Given the description of an element on the screen output the (x, y) to click on. 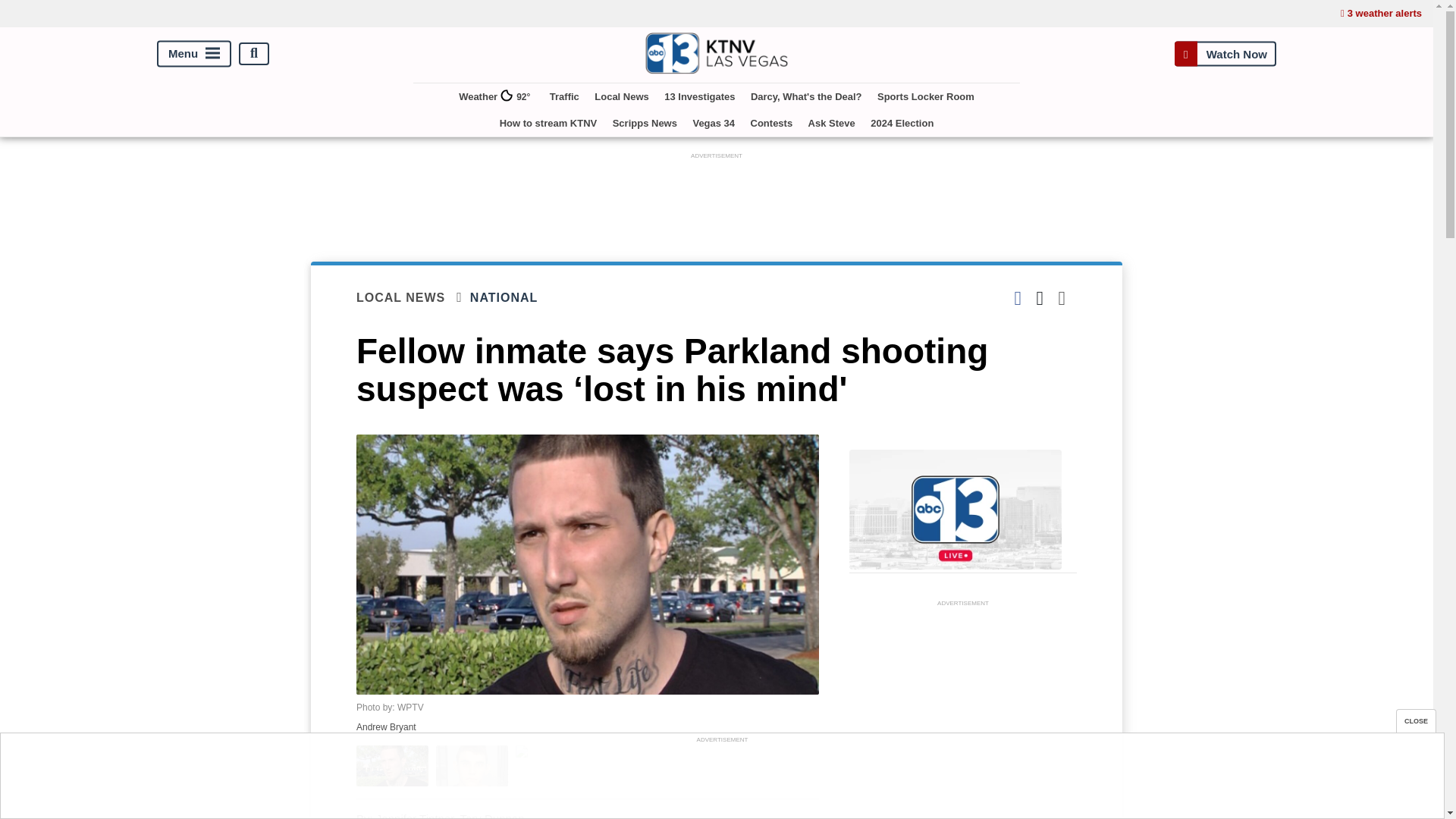
3rd party ad content (962, 714)
3rd party ad content (716, 196)
Menu (194, 53)
3rd party ad content (721, 780)
Watch Now (1224, 52)
